Given the description of an element on the screen output the (x, y) to click on. 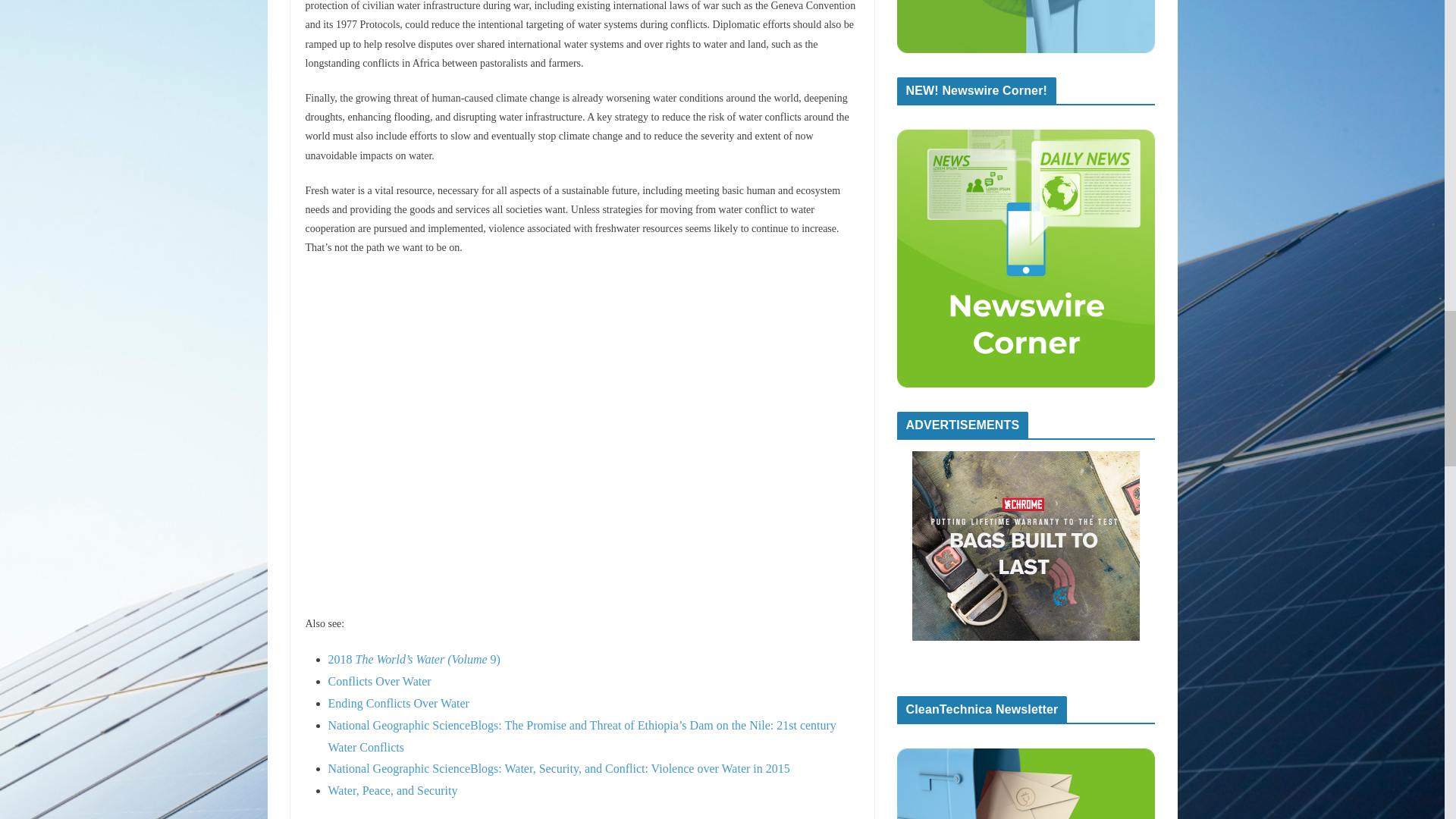
Conflicts Over Water (378, 680)
Ending Conflicts Over Water (397, 703)
